Given the description of an element on the screen output the (x, y) to click on. 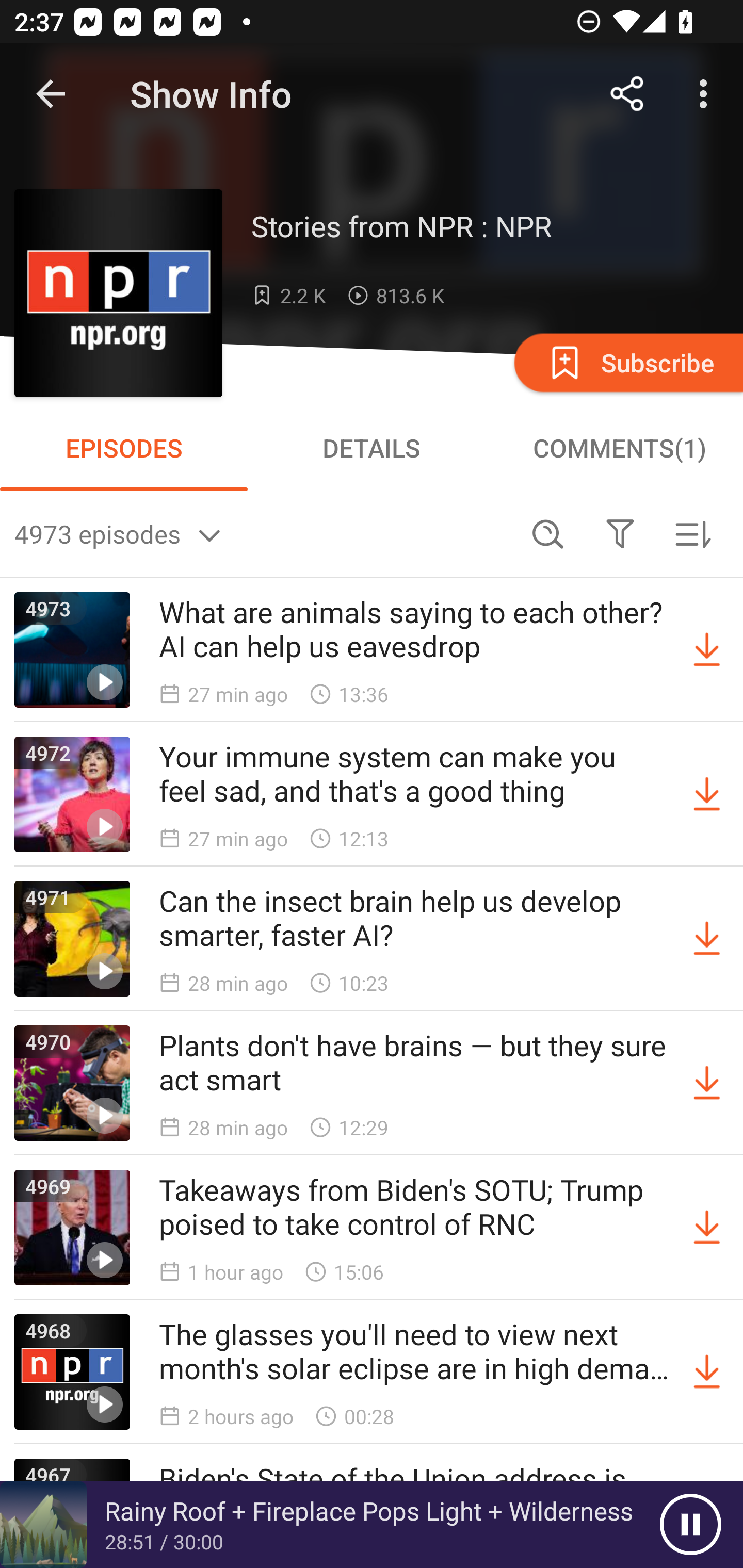
Navigate up (50, 93)
Share (626, 93)
More options (706, 93)
Subscribe (627, 361)
EPISODES (123, 447)
DETAILS (371, 447)
COMMENTS(1) (619, 447)
4973 episodes  (262, 533)
 Search (547, 533)
 (619, 533)
 Sorted by newest first (692, 533)
Download (706, 649)
Download (706, 793)
Download (706, 939)
Download (706, 1083)
Download (706, 1227)
Download (706, 1371)
Pause (690, 1524)
